Given the description of an element on the screen output the (x, y) to click on. 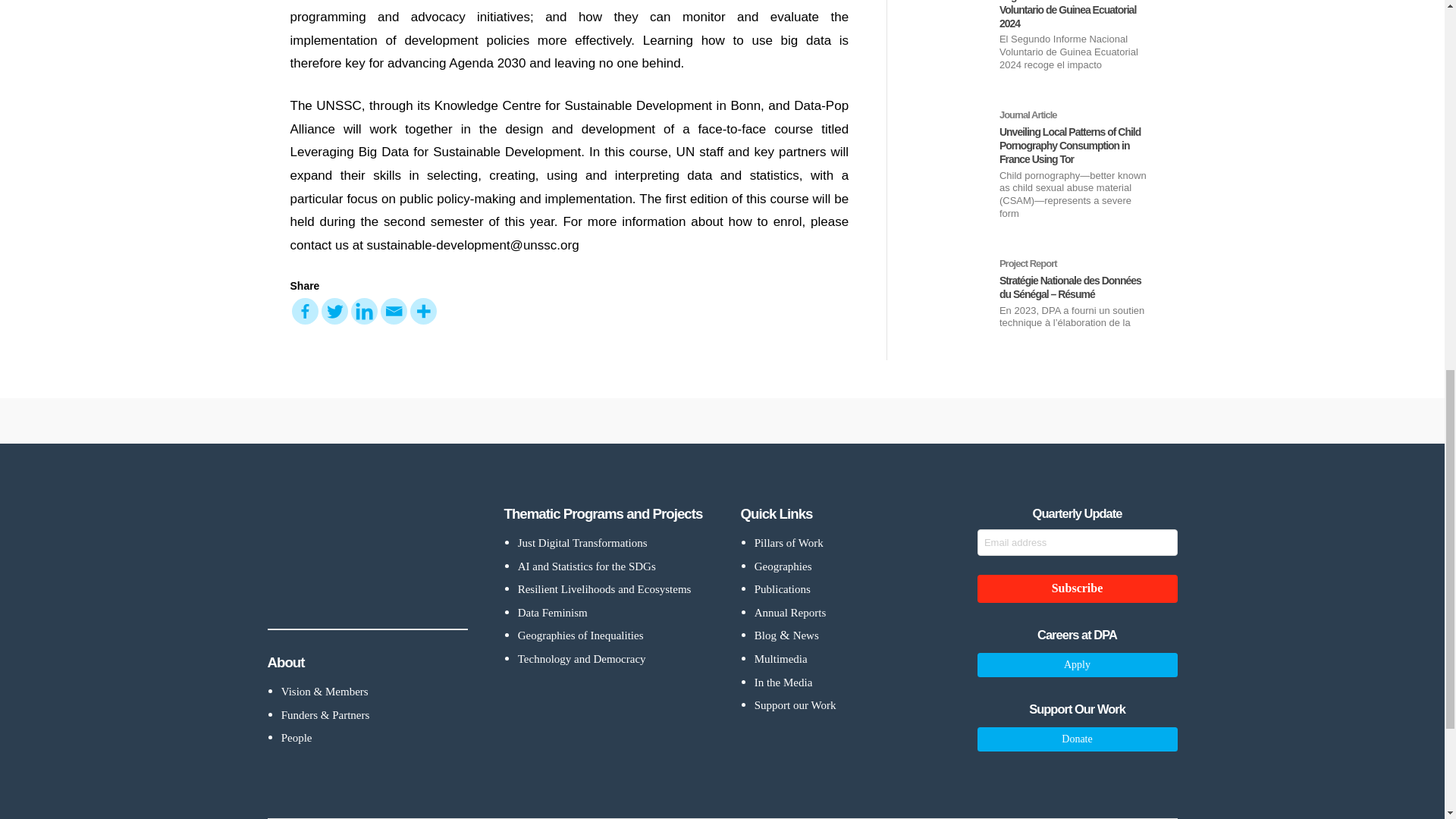
Twitter (334, 311)
More (422, 311)
Linkedin (363, 311)
Subscribe (1076, 588)
Email (393, 311)
Facebook (304, 311)
